Given the description of an element on the screen output the (x, y) to click on. 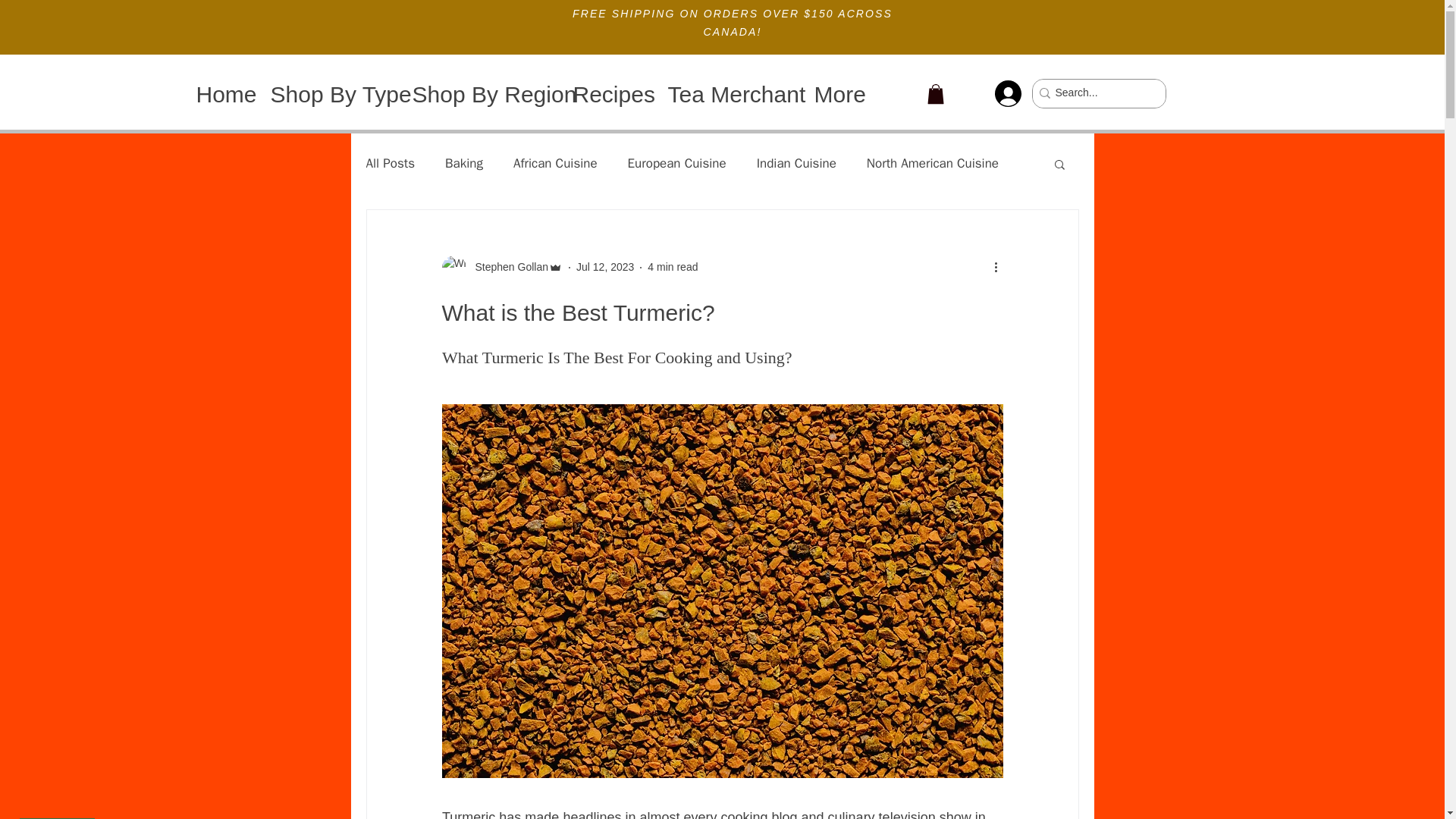
European Cuisine (676, 162)
Log In (1009, 93)
African Cuisine (554, 162)
4 min read (672, 266)
North American Cuisine (932, 162)
Tea Merchant (729, 93)
Shop By Region (480, 93)
Home (221, 93)
Jul 12, 2023 (604, 266)
Stephen Gollan (506, 267)
All Posts (389, 162)
Shop By Type (330, 93)
Indian Cuisine (796, 162)
Baking (464, 162)
Recipes (608, 93)
